Given the description of an element on the screen output the (x, y) to click on. 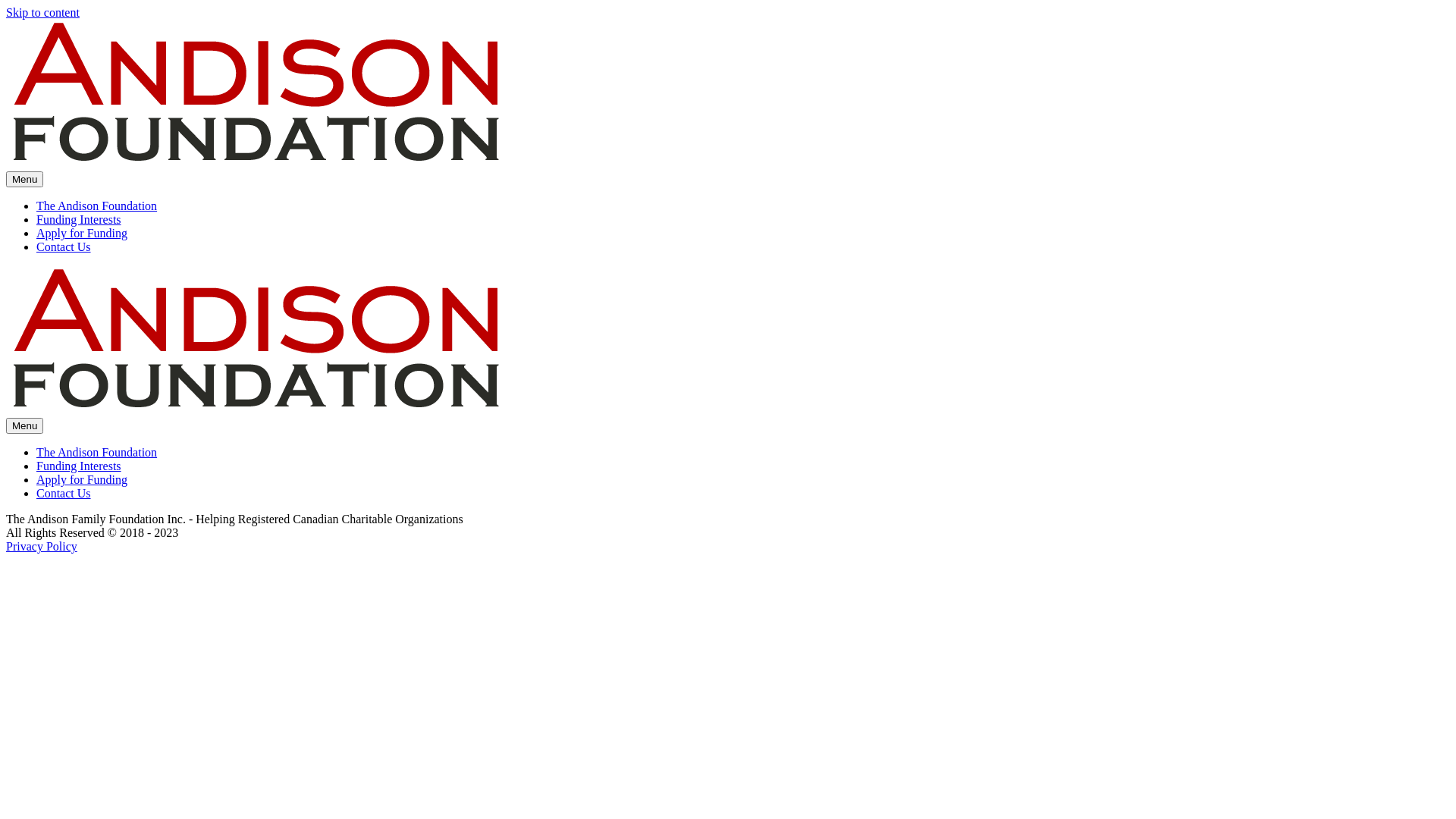
The Andison Foundation Element type: text (96, 205)
Menu Element type: text (24, 179)
Menu Element type: text (24, 425)
Privacy Policy Element type: text (41, 545)
Funding Interests Element type: text (78, 465)
Funding Interests Element type: text (78, 219)
Apply for Funding Element type: text (81, 479)
Apply for Funding Element type: text (81, 232)
Skip to content Element type: text (42, 12)
Contact Us Element type: text (63, 492)
Contact Us Element type: text (63, 246)
The Andison Foundation Element type: text (96, 451)
